Given the description of an element on the screen output the (x, y) to click on. 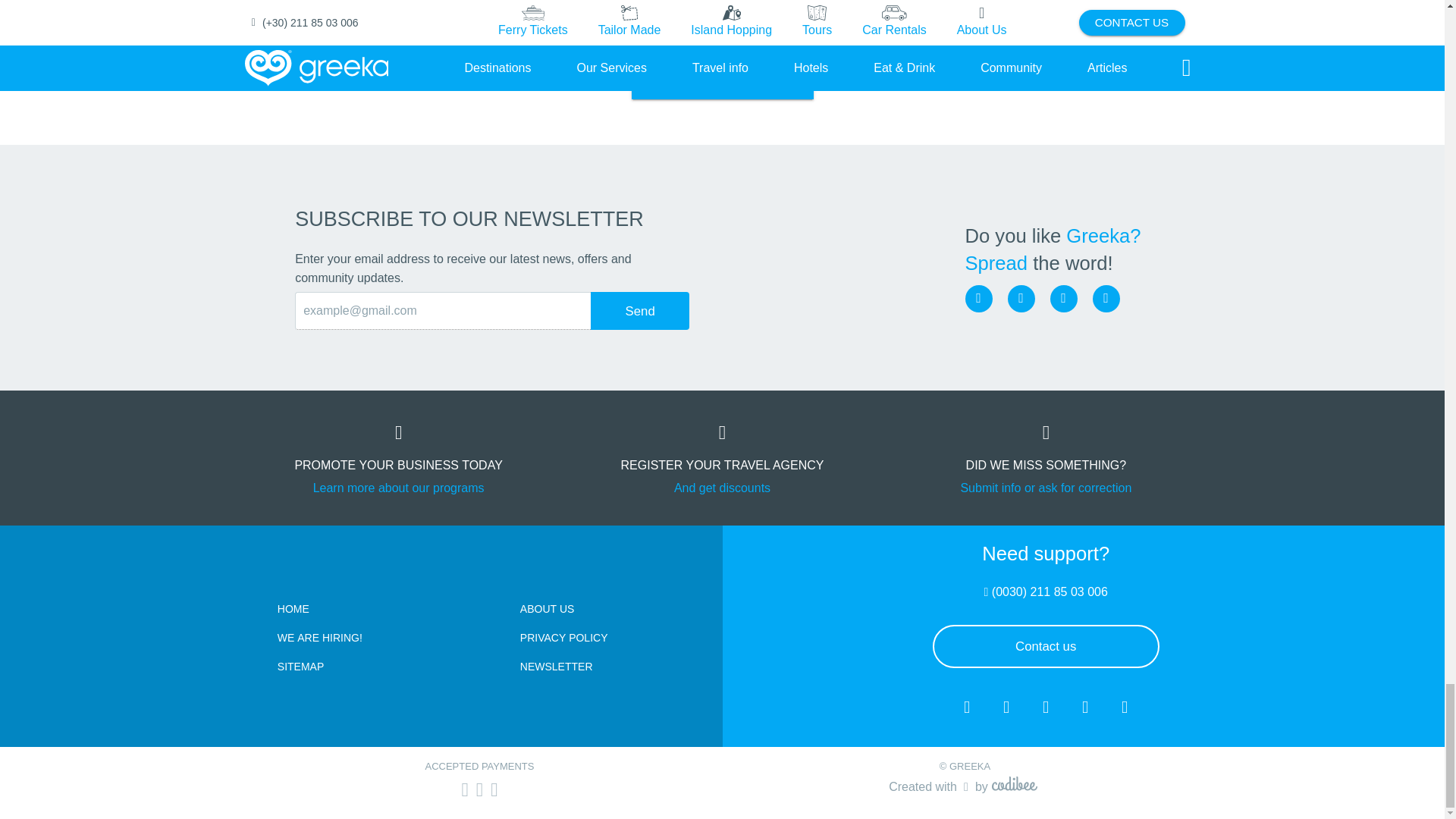
Send (639, 310)
